Given the description of an element on the screen output the (x, y) to click on. 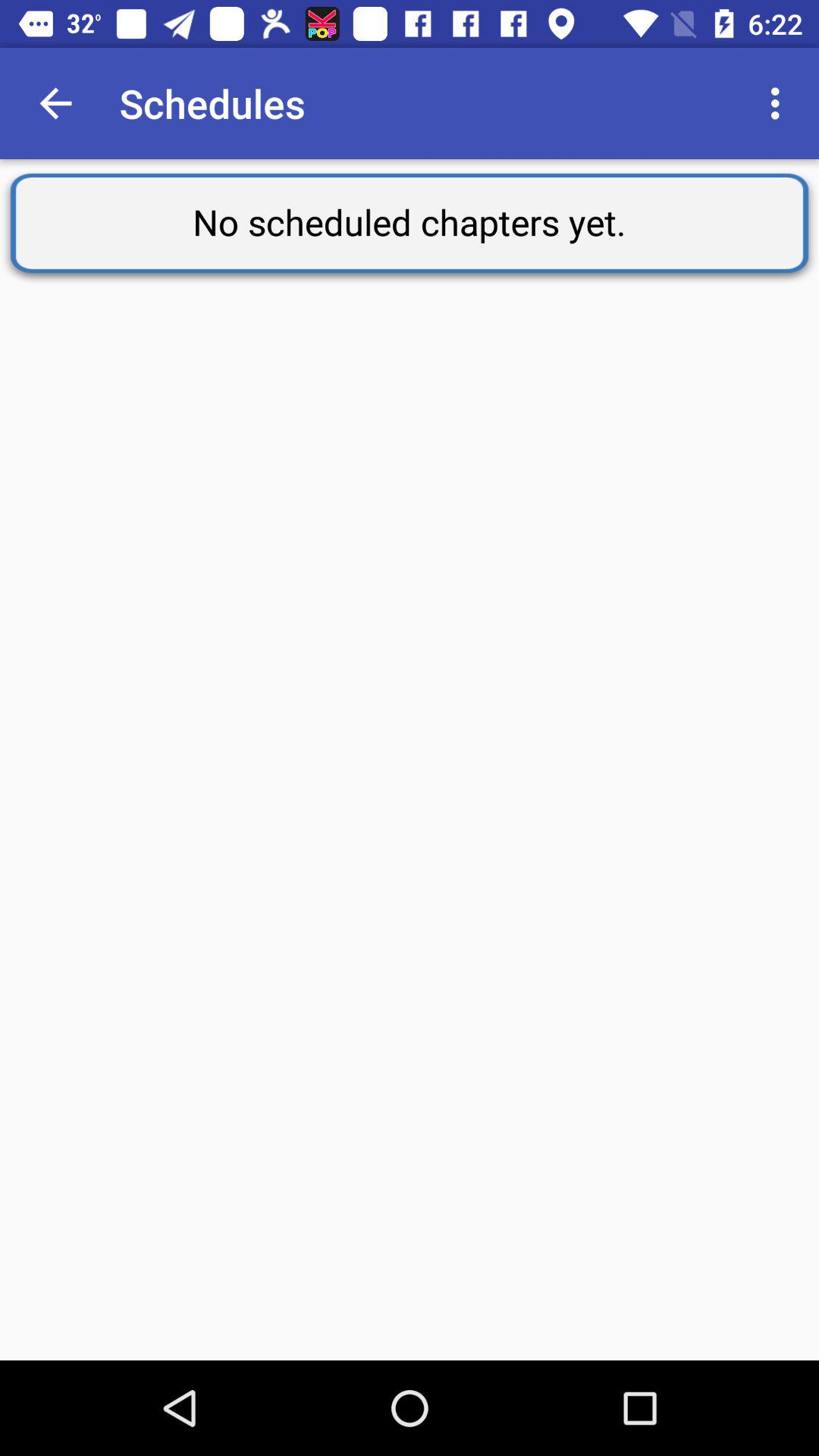
open the app to the right of schedules item (779, 103)
